Given the description of an element on the screen output the (x, y) to click on. 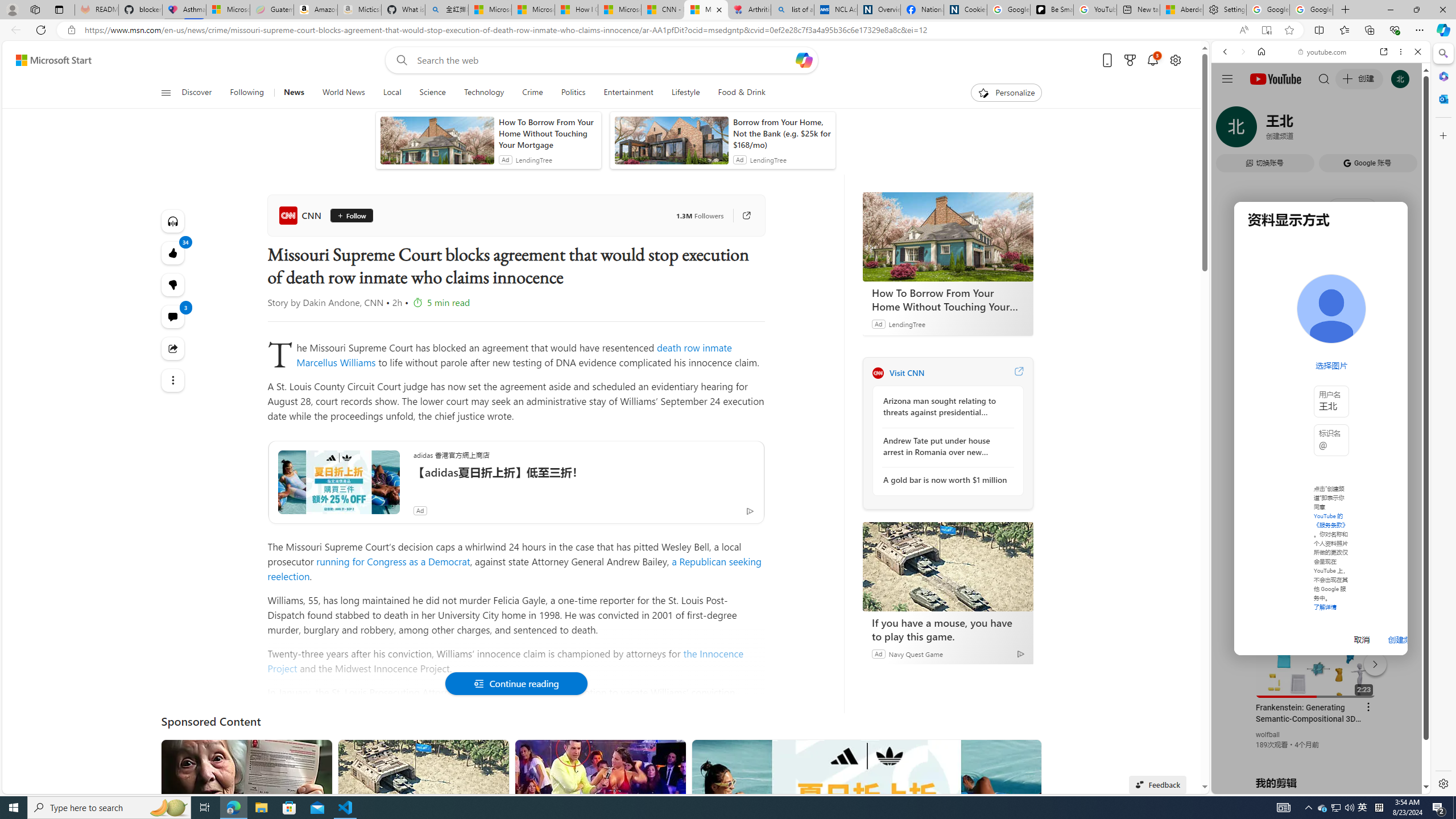
a Republican seeking reelection (514, 568)
Listen to this article (172, 220)
Show More Music (1390, 310)
the Innocence Project (505, 660)
wolfball (1268, 734)
View comments 3 Comment (172, 316)
Class: dict_pnIcon rms_img (1312, 784)
